Given the description of an element on the screen output the (x, y) to click on. 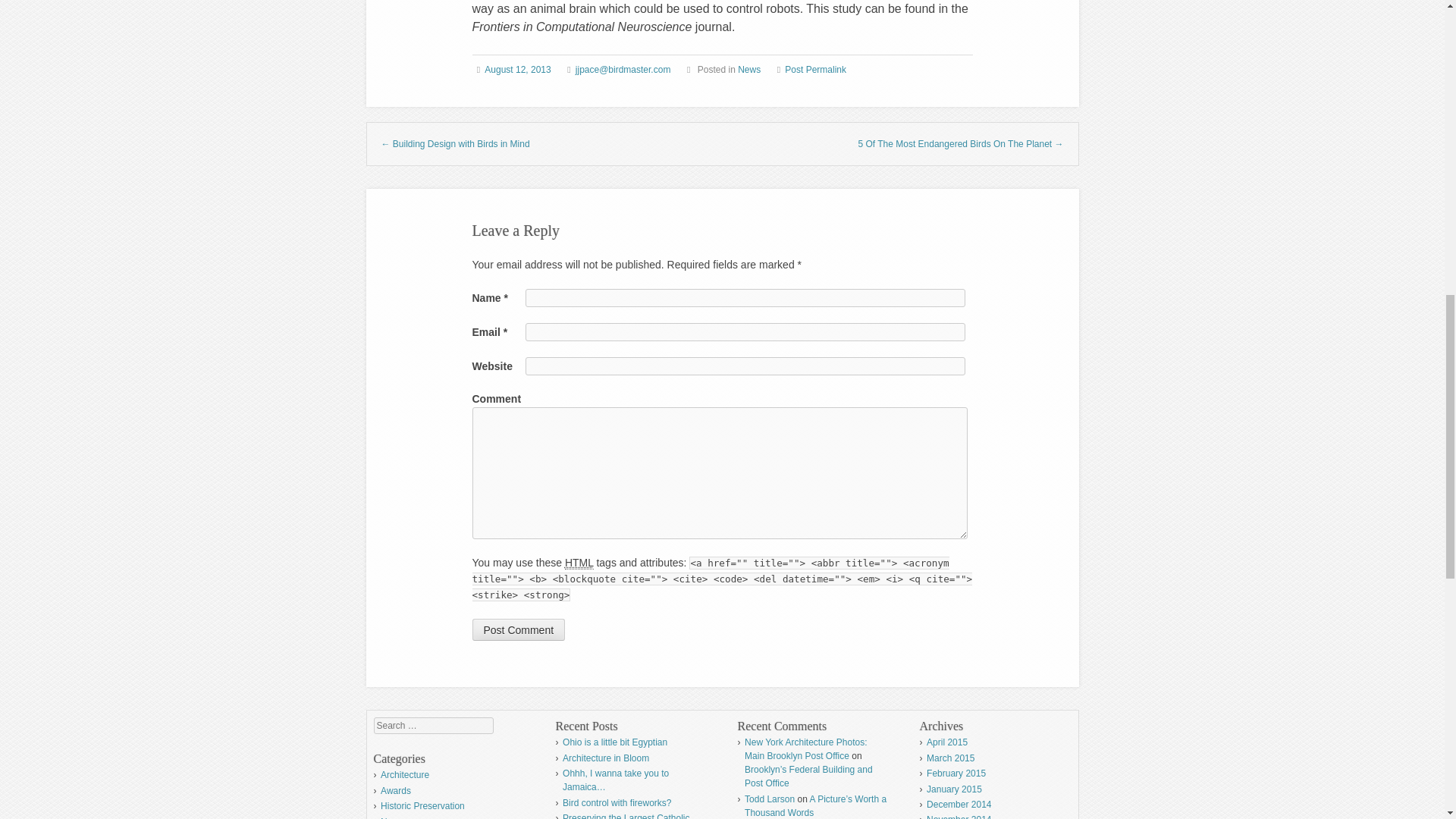
News (749, 69)
12:22 pm (517, 69)
Post Comment (517, 629)
Preserving the Largest Catholic Church in the U.S. (625, 816)
Architecture in Bloom (605, 757)
January 2015 (953, 788)
New York Architecture Photos: Main Brooklyn Post Office (805, 749)
March 2015 (950, 757)
November 2014 (958, 816)
Post Comment (517, 629)
